Given the description of an element on the screen output the (x, y) to click on. 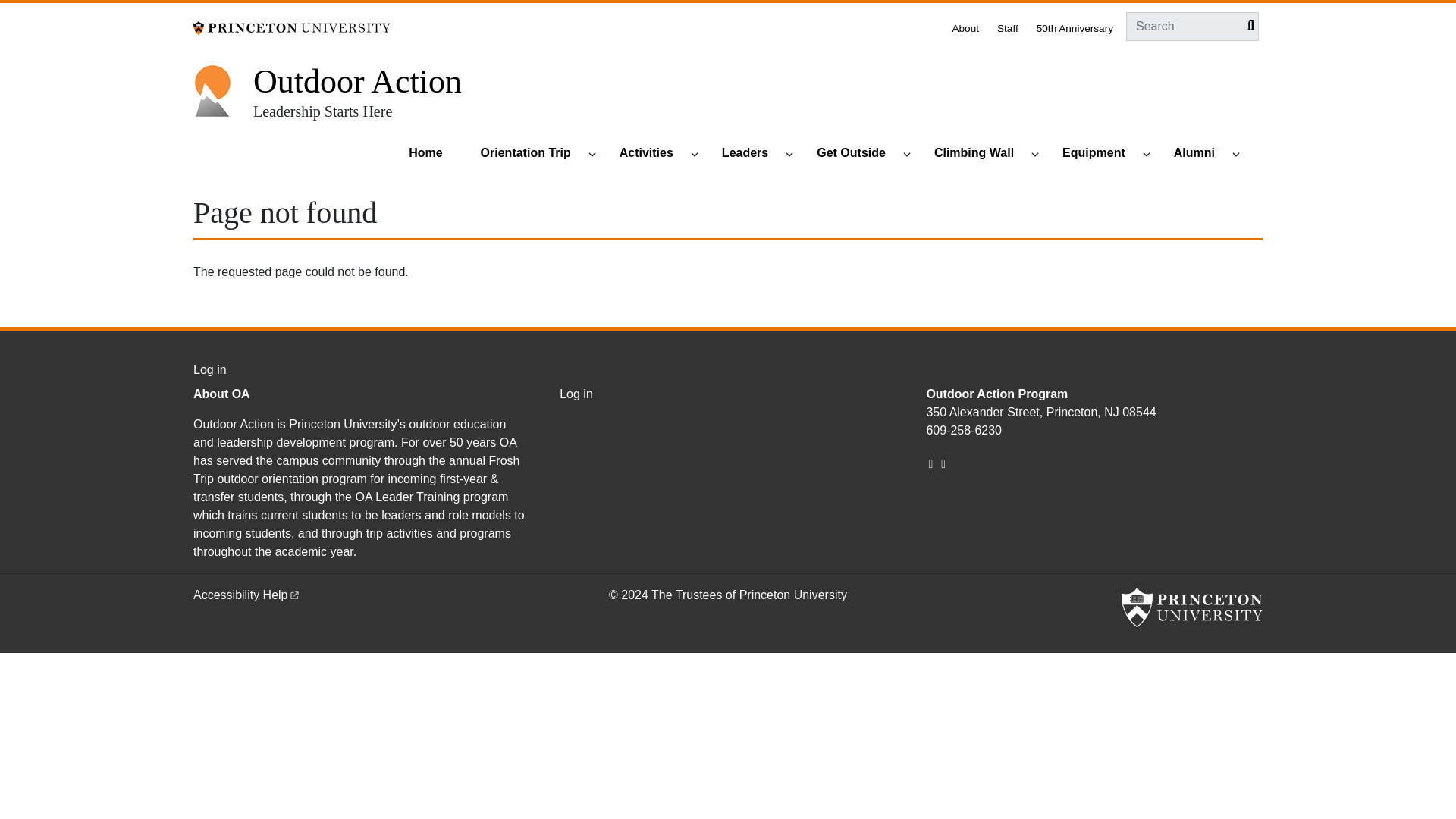
Leaders (751, 154)
Home (357, 81)
Princeton University (1191, 607)
Outdoor Action (357, 81)
Orientation Trip (532, 154)
Link is external (293, 592)
Home (432, 154)
Activities (652, 154)
Submit (1246, 25)
Princeton University (291, 26)
